Given the description of an element on the screen output the (x, y) to click on. 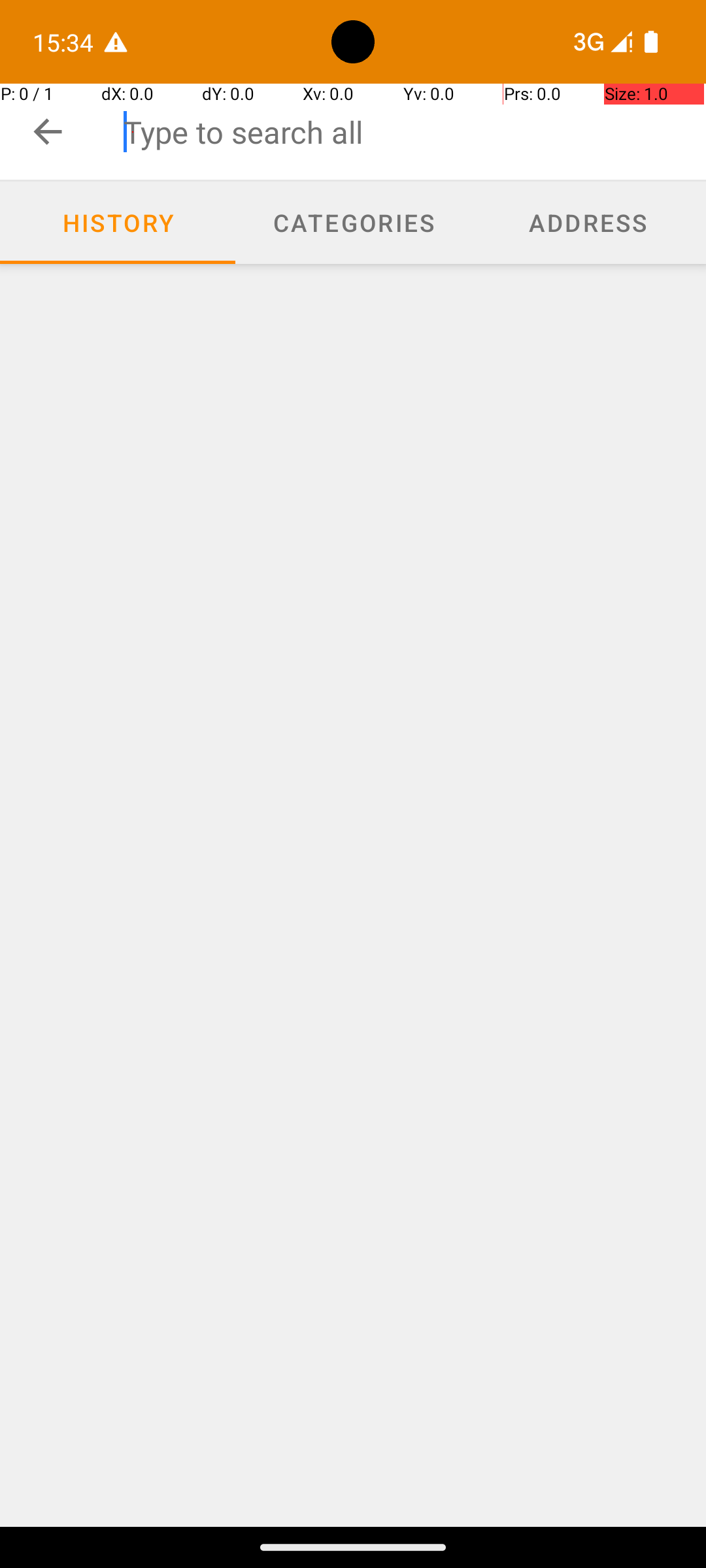
Type to search all Element type: android.widget.EditText (414, 131)
HISTORY Element type: android.widget.TextView (117, 222)
CATEGORIES Element type: android.widget.TextView (352, 222)
ADDRESS Element type: android.widget.TextView (587, 222)
